Given the description of an element on the screen output the (x, y) to click on. 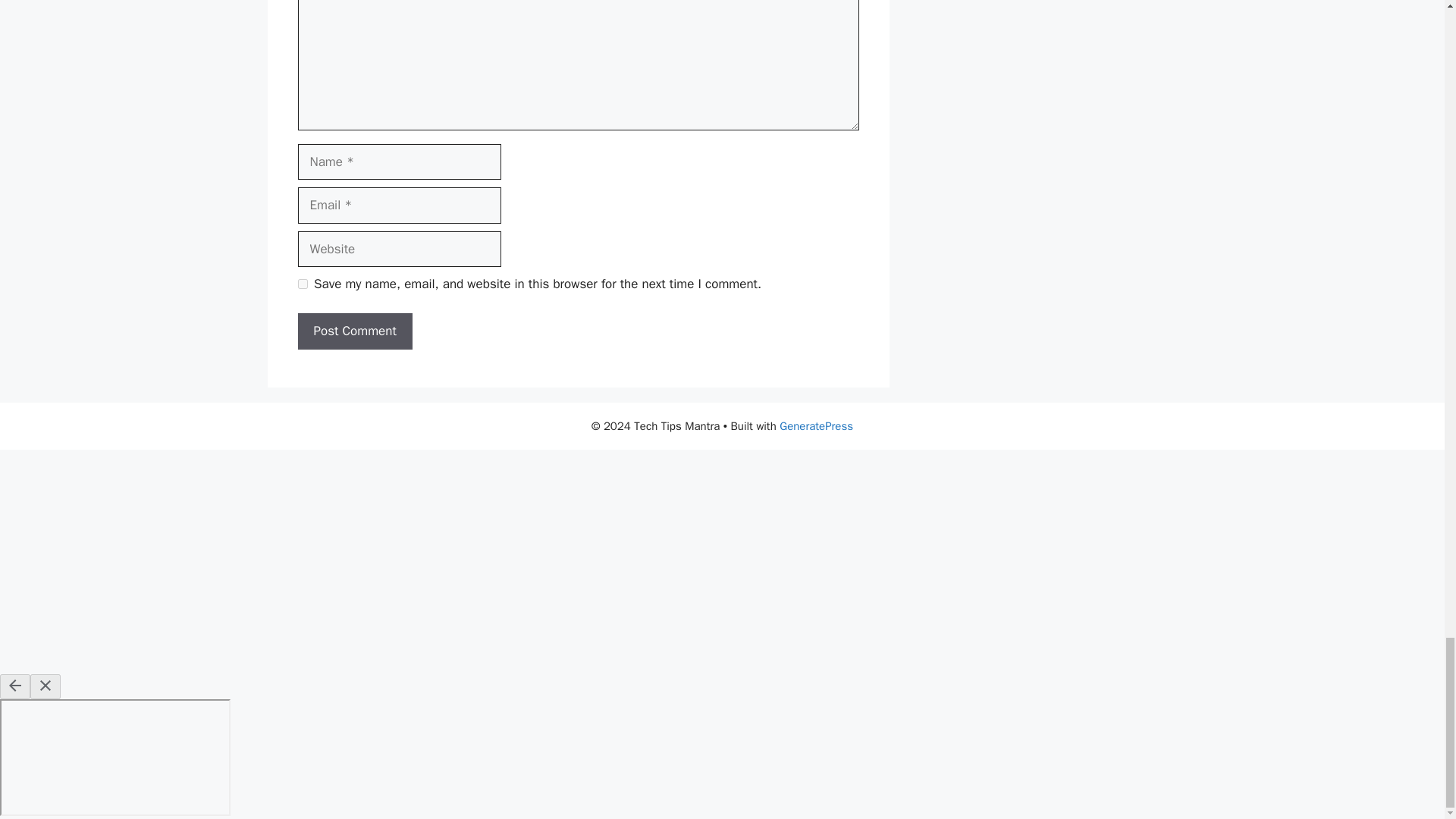
yes (302, 284)
Post Comment (354, 330)
Post Comment (354, 330)
GeneratePress (815, 426)
